Given the description of an element on the screen output the (x, y) to click on. 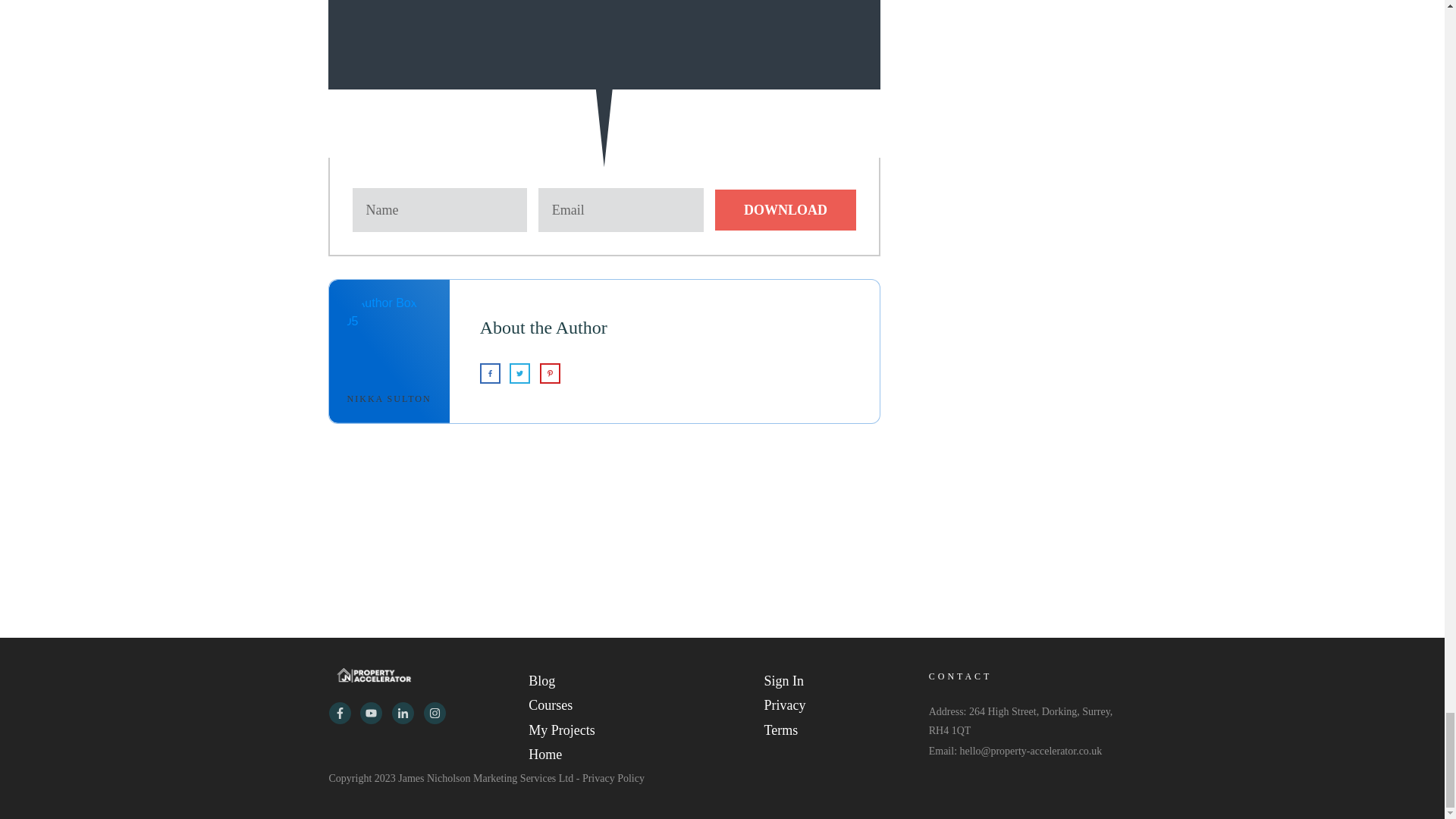
Author Box 05 (389, 338)
DOWNLOAD (785, 209)
NIKKA SULTON (388, 398)
Nikka Sulton (388, 398)
